Given the description of an element on the screen output the (x, y) to click on. 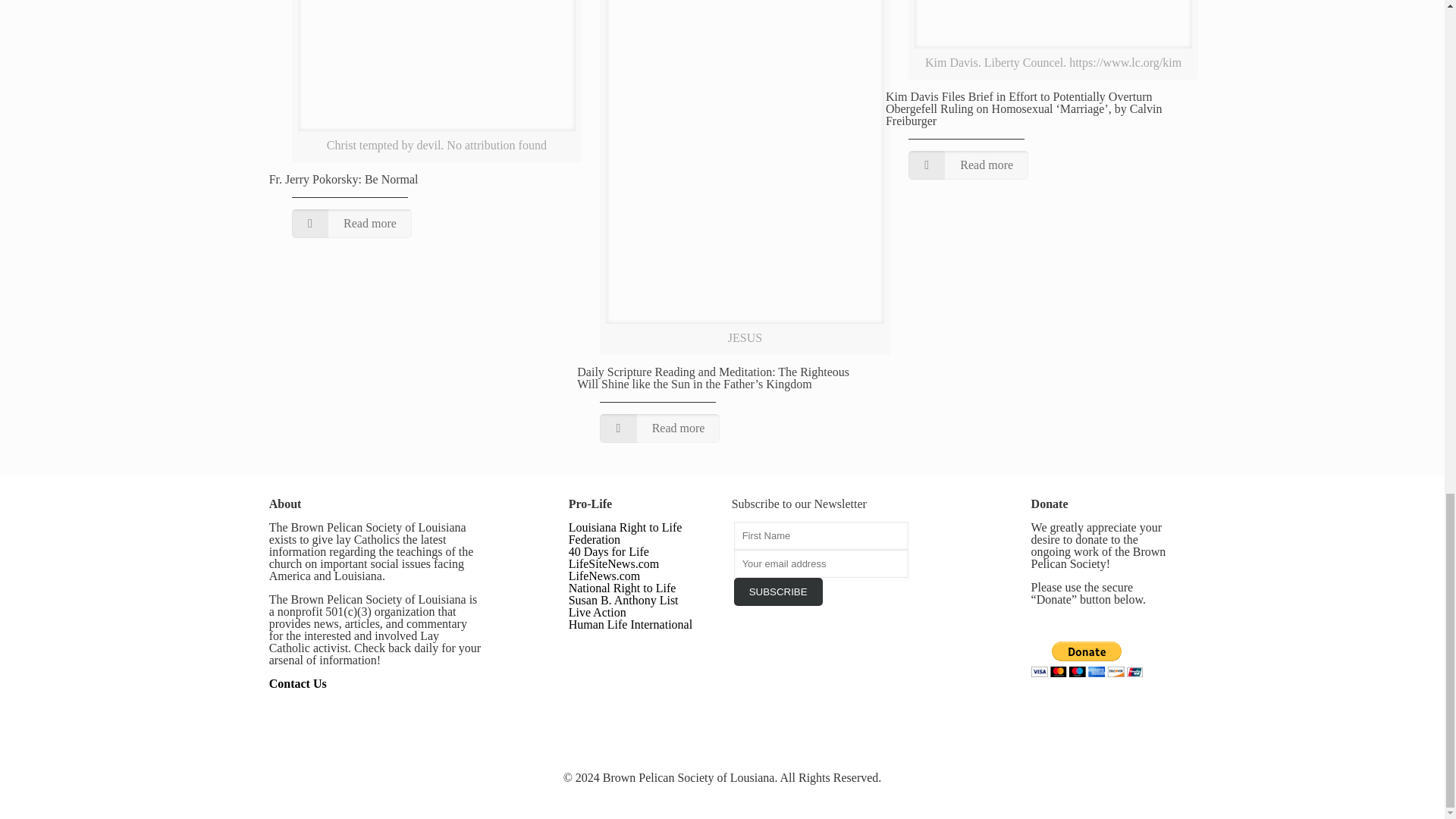
Fr. Jerry Pokorsky: Be Normal (344, 178)
Read more (352, 223)
SUBSCRIBE (777, 592)
Facebook (702, 797)
Twitter (722, 797)
LinkedIn (743, 797)
Read more (659, 428)
